Given the description of an element on the screen output the (x, y) to click on. 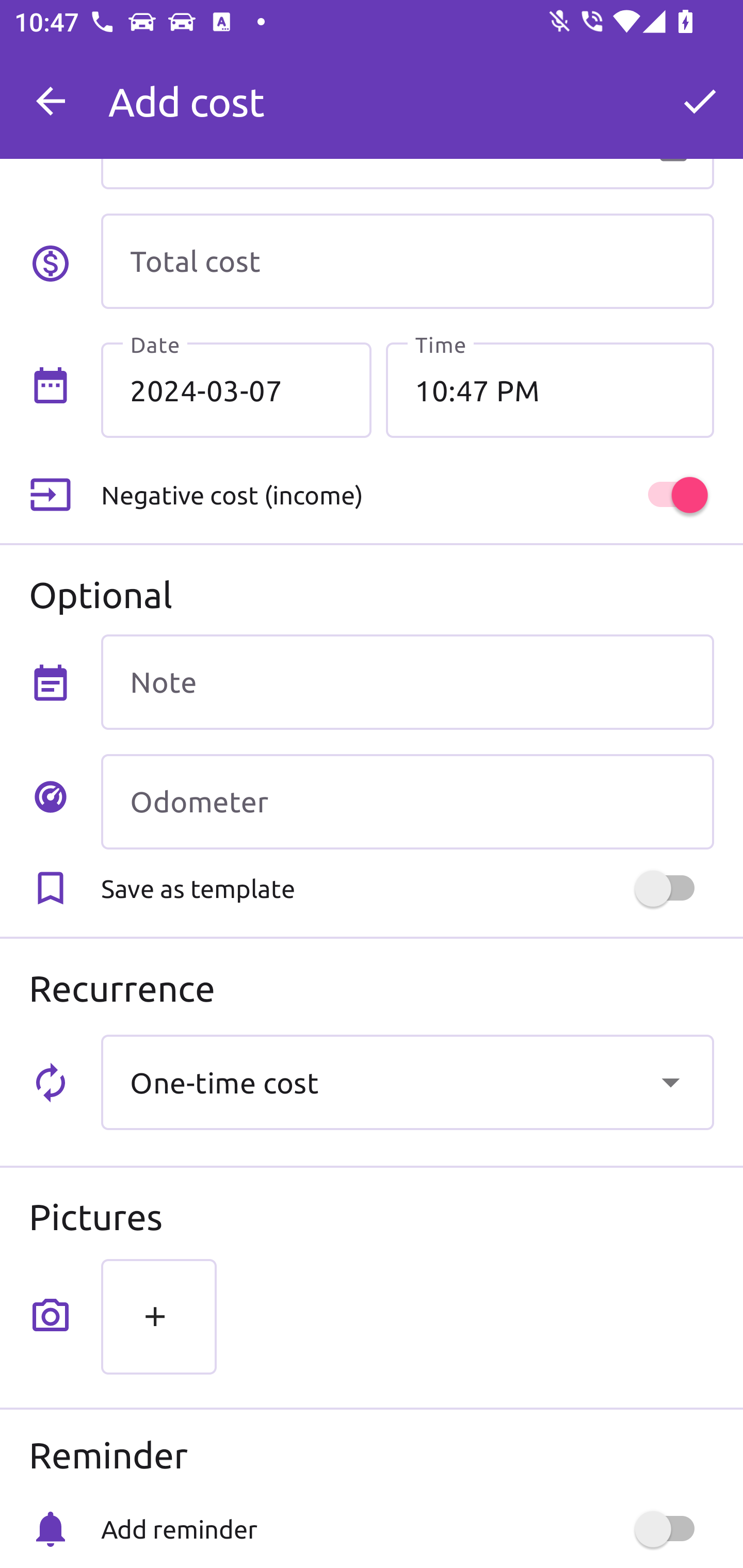
M My Car 0 km (407, 92)
Navigate up (50, 101)
OK (699, 101)
Total cost  (407, 260)
2024-03-07 (236, 389)
10:47 PM (549, 389)
Negative cost (income) (407, 494)
Note (407, 682)
Odometer (407, 801)
Save as template (407, 887)
One-time cost (407, 1082)
Show dropdown menu (670, 1081)
Add reminder (407, 1529)
